Given the description of an element on the screen output the (x, y) to click on. 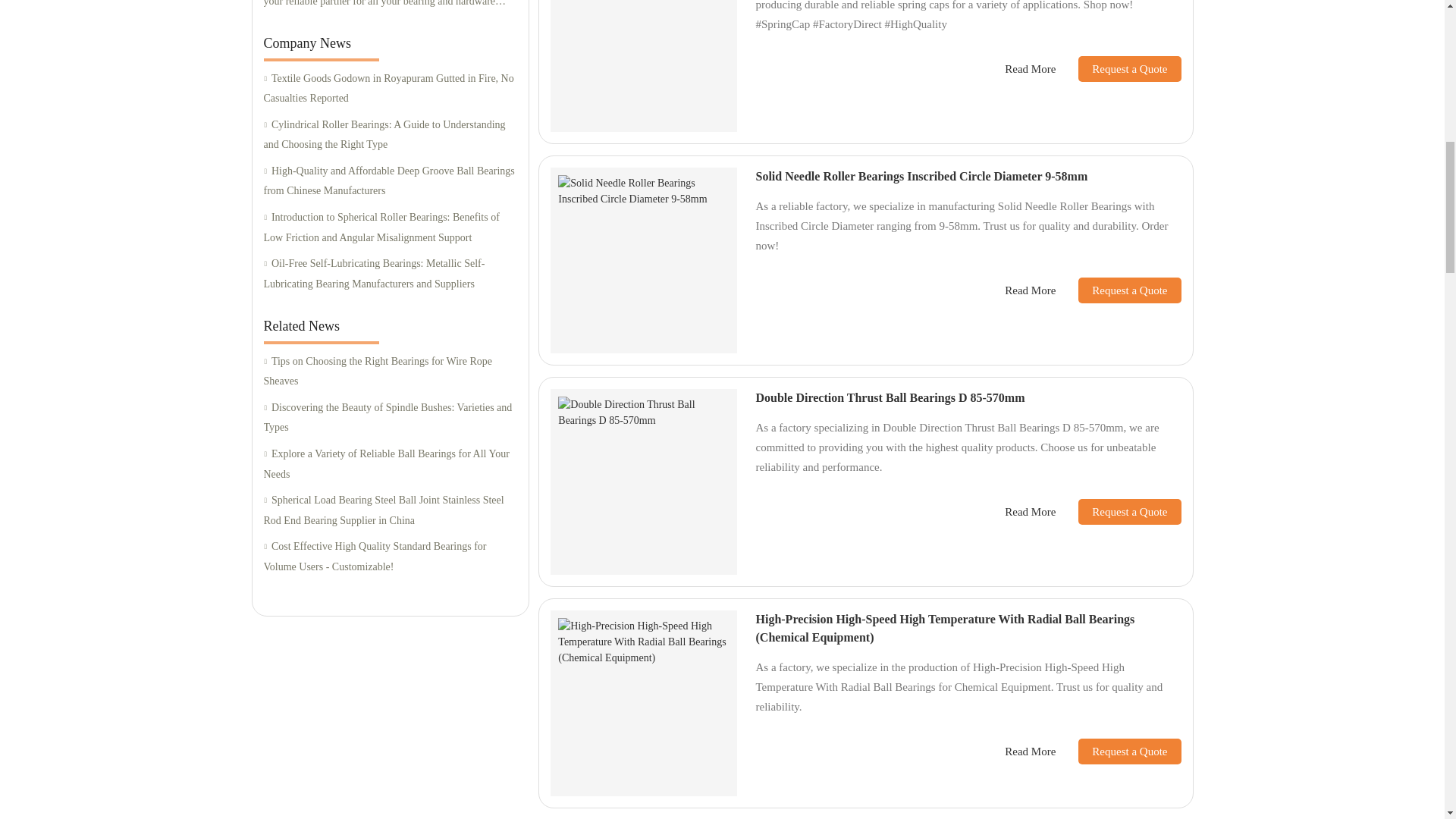
Tips on Choosing the Right Bearings for Wire Rope Sheaves (389, 372)
